Given the description of an element on the screen output the (x, y) to click on. 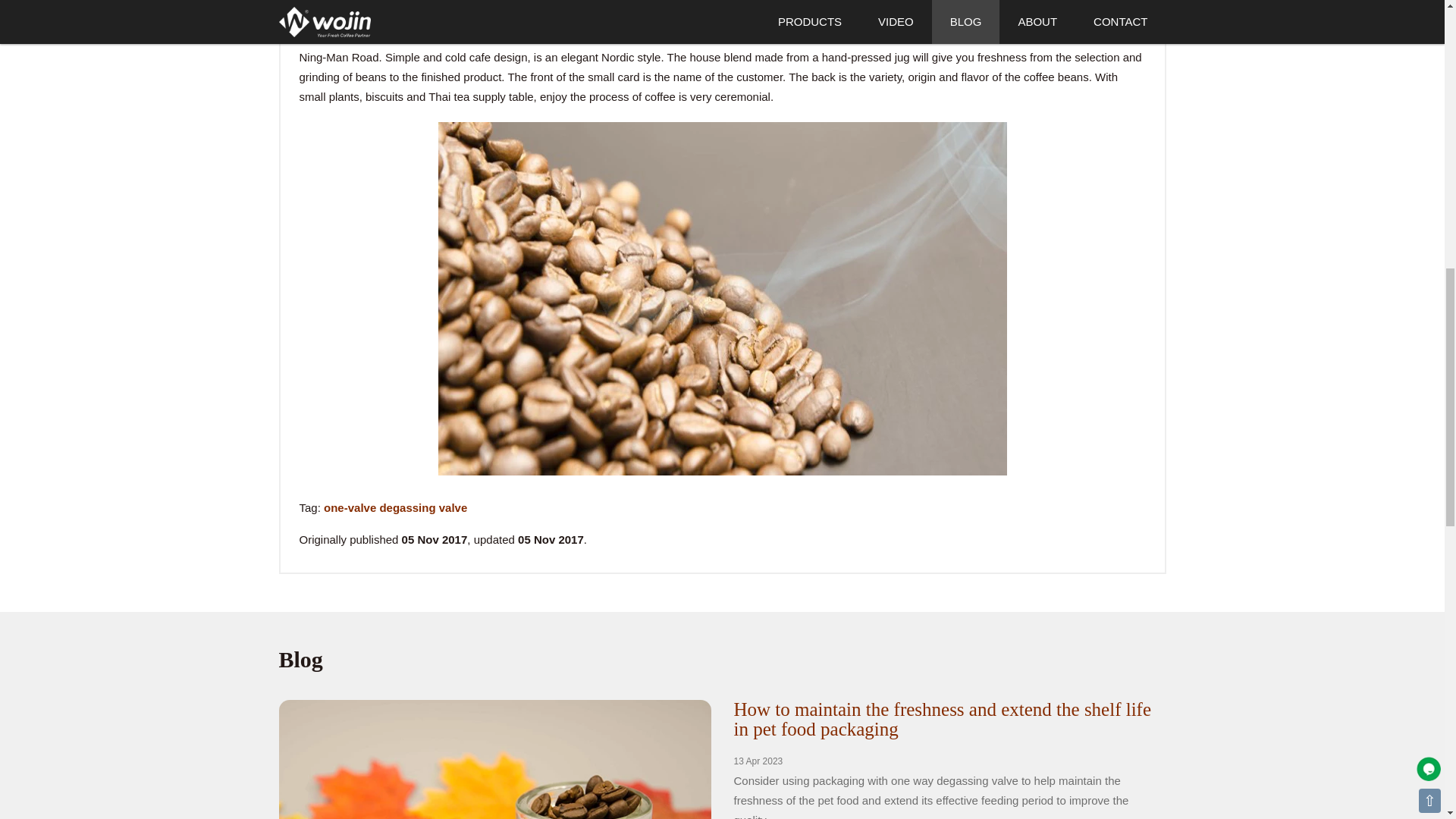
one-valve degassing valve (395, 507)
